Given the description of an element on the screen output the (x, y) to click on. 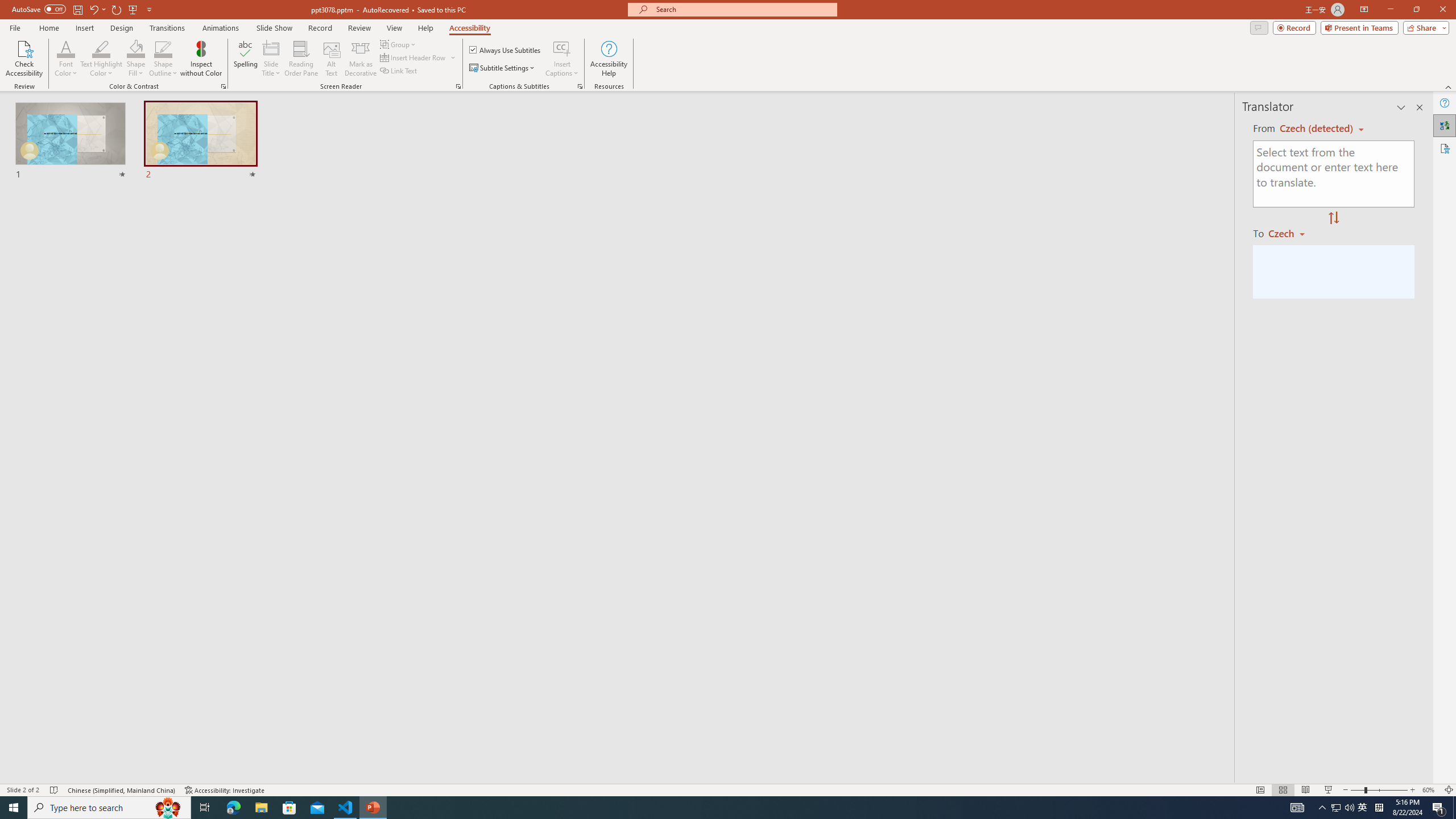
Slide Title (271, 58)
Subtitle Settings (502, 67)
Link Text (399, 69)
Accessibility Help (608, 58)
Insert Captions (561, 58)
Reading Order Pane (301, 58)
